Given the description of an element on the screen output the (x, y) to click on. 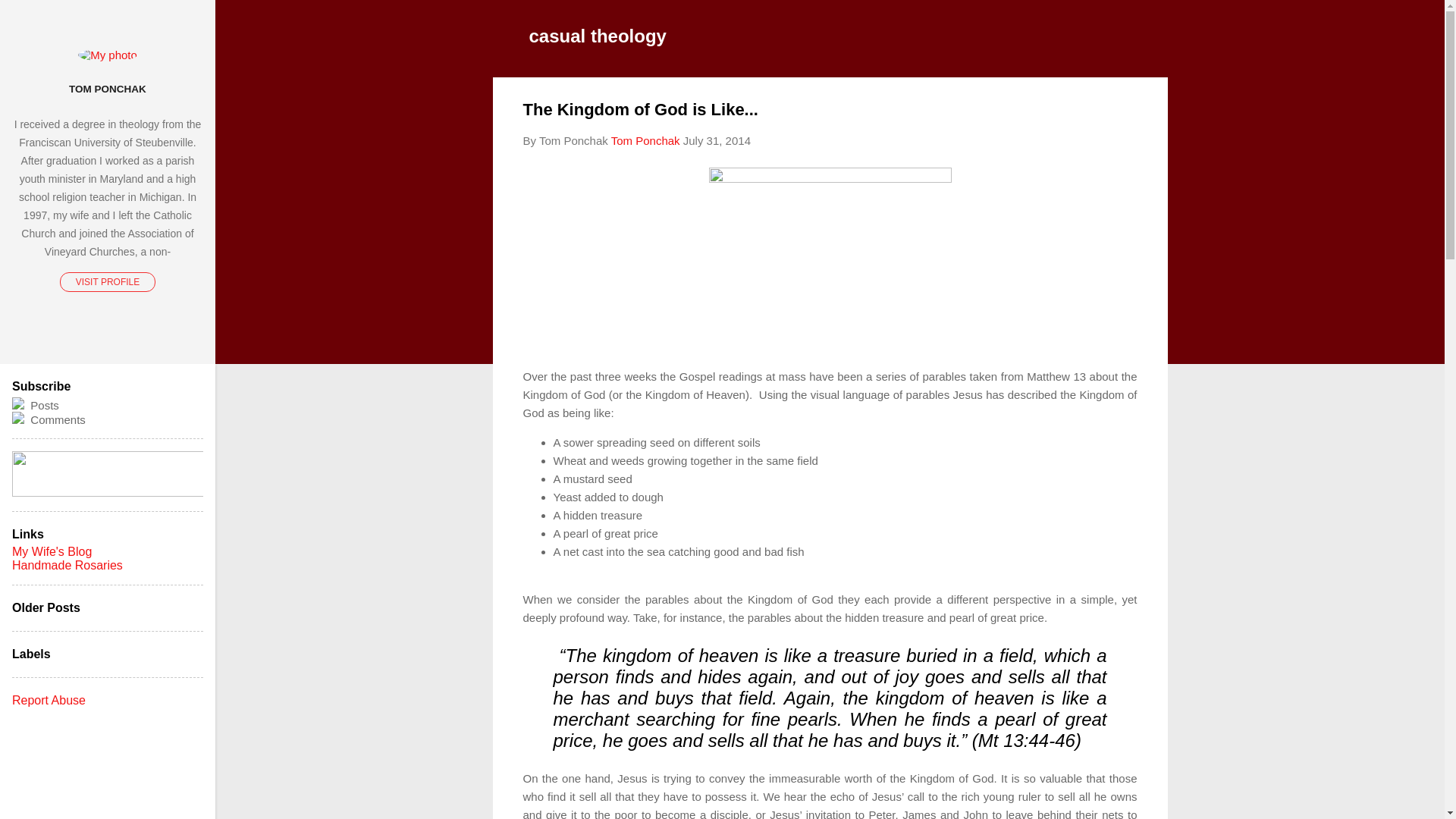
Search (29, 18)
casual theology (597, 35)
author profile (645, 140)
July 31, 2014 (716, 140)
Tom Ponchak (645, 140)
permanent link (716, 140)
